Given the description of an element on the screen output the (x, y) to click on. 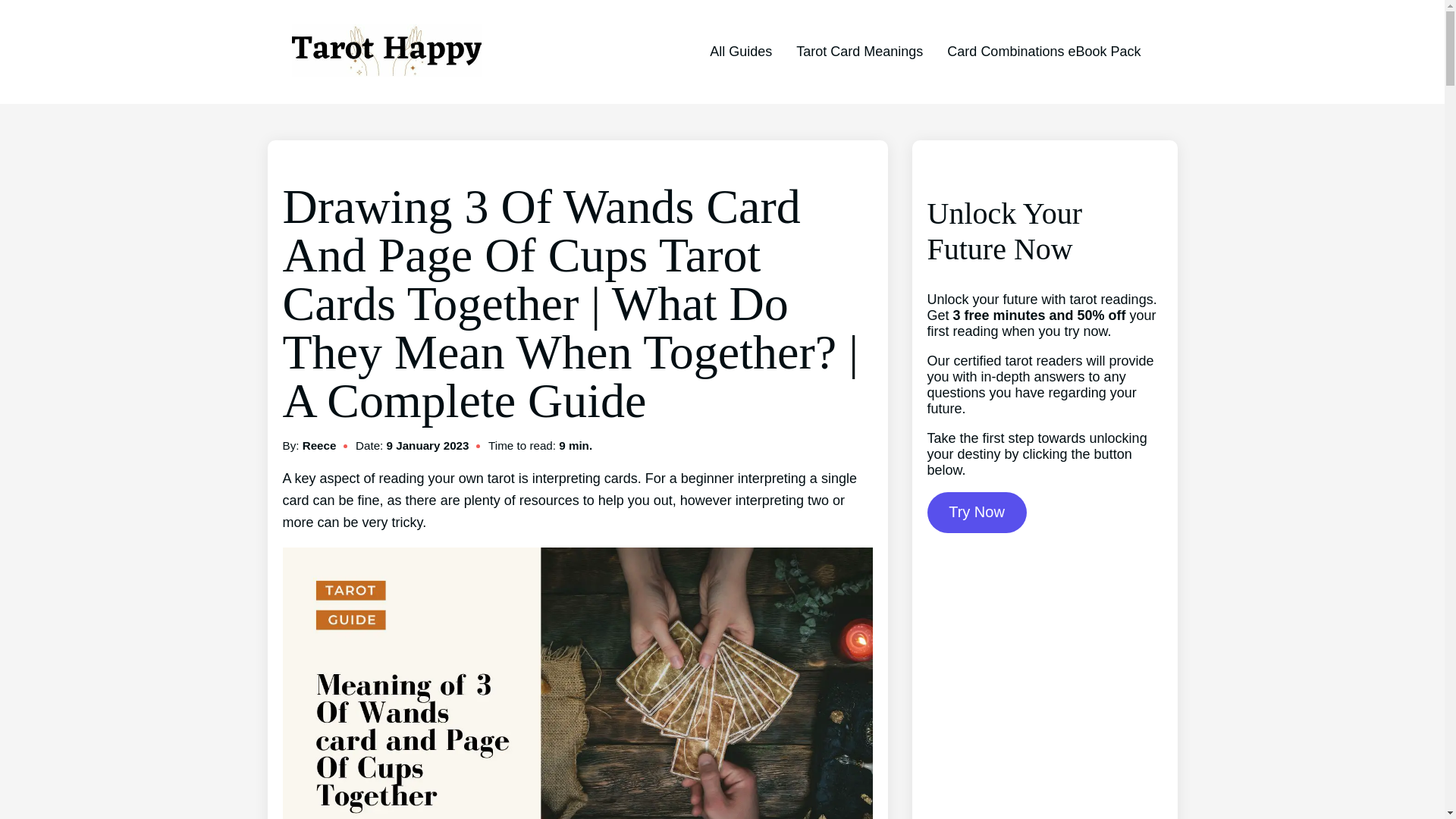
Tarot Card Meanings (859, 51)
Try Now (976, 512)
All Guides (740, 51)
Card Combinations eBook Pack (1043, 51)
